Given the description of an element on the screen output the (x, y) to click on. 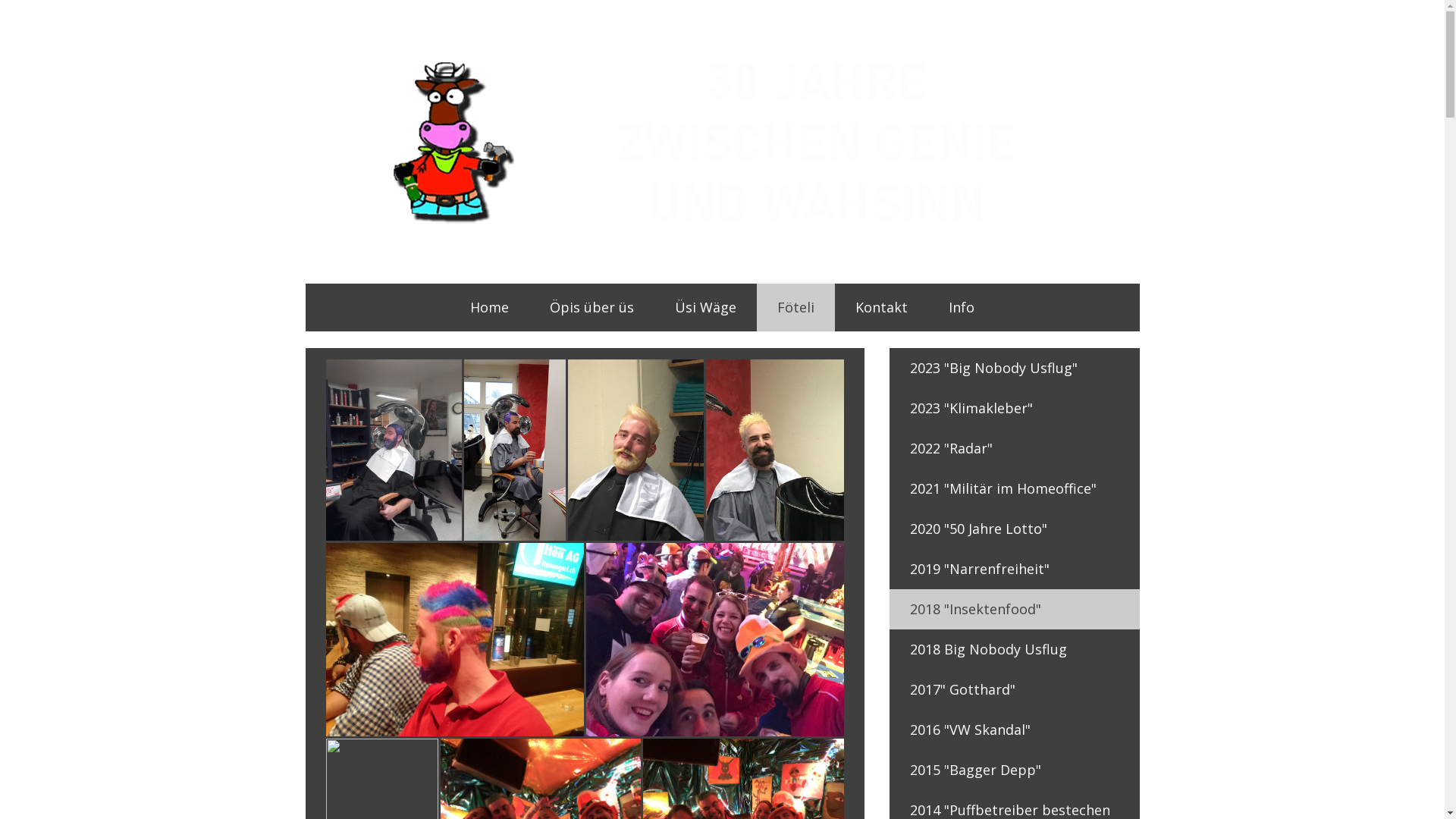
2018 Big Nobody Usflug Element type: text (1013, 649)
2015 "Bagger Depp" Element type: text (1013, 769)
2022 "Radar" Element type: text (1013, 448)
Info Element type: text (961, 307)
2023 "Big Nobody Usflug" Element type: text (1013, 368)
2023 "Klimakleber" Element type: text (1013, 408)
2018 "Insektenfood" Element type: text (1013, 609)
2020 "50 Jahre Lotto" Element type: text (1013, 528)
2019 "Narrenfreiheit" Element type: text (1013, 569)
2016 "VW Skandal" Element type: text (1013, 729)
Kontakt Element type: text (881, 307)
2017" Gotthard" Element type: text (1013, 689)
Home Element type: text (489, 307)
